Given the description of an element on the screen output the (x, y) to click on. 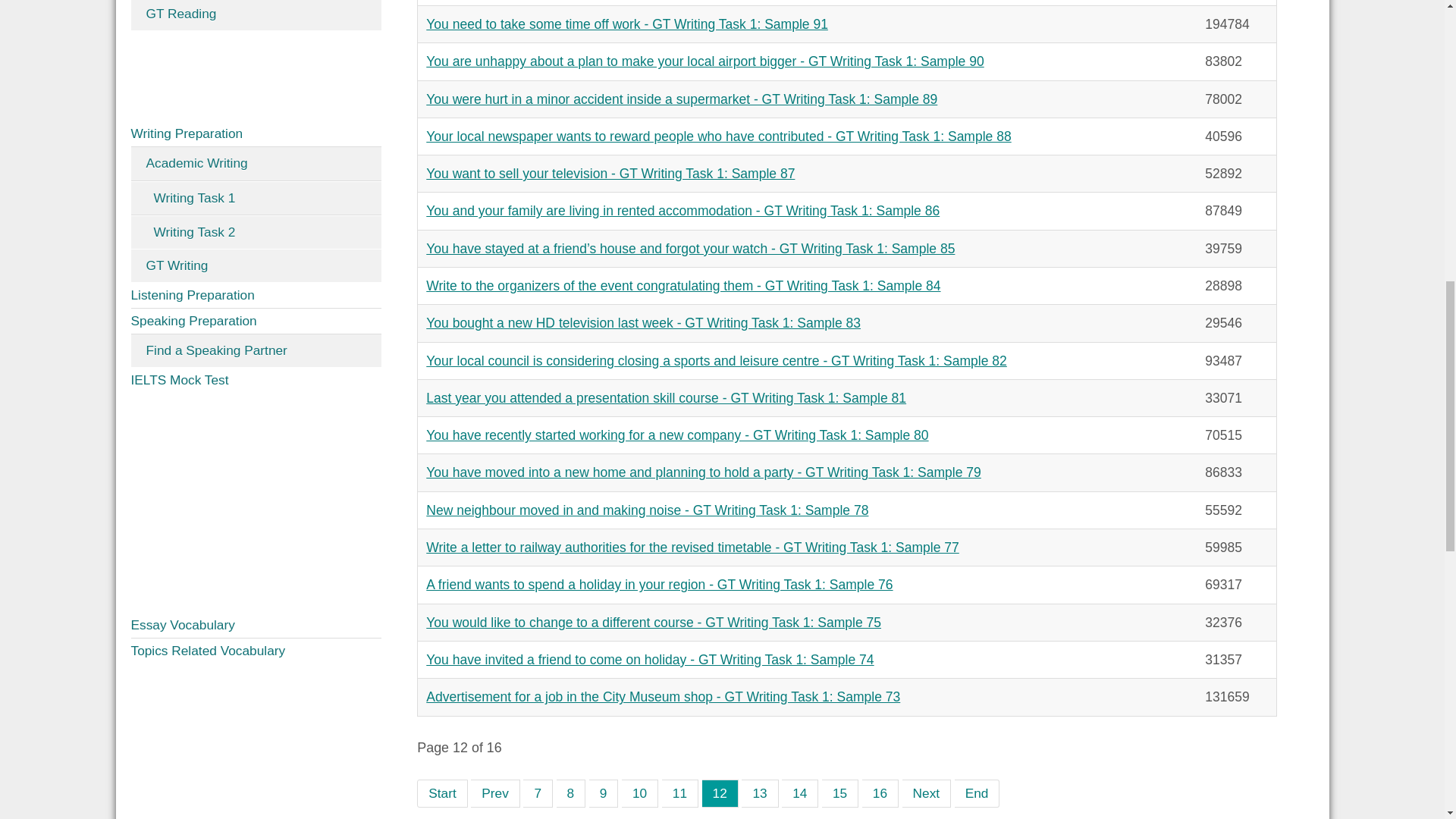
Writing Task 2 (256, 232)
Speaking Preparation (256, 321)
GT Reading (256, 15)
Writing Task 1 (256, 198)
Academic Writing (256, 163)
Writing Preparation (256, 134)
IELTS Mock Test (256, 380)
Advertisement (256, 75)
GT Writing (256, 265)
Listening Preparation (256, 295)
Find a Speaking Partner (256, 350)
Advertisement (256, 502)
